Given the description of an element on the screen output the (x, y) to click on. 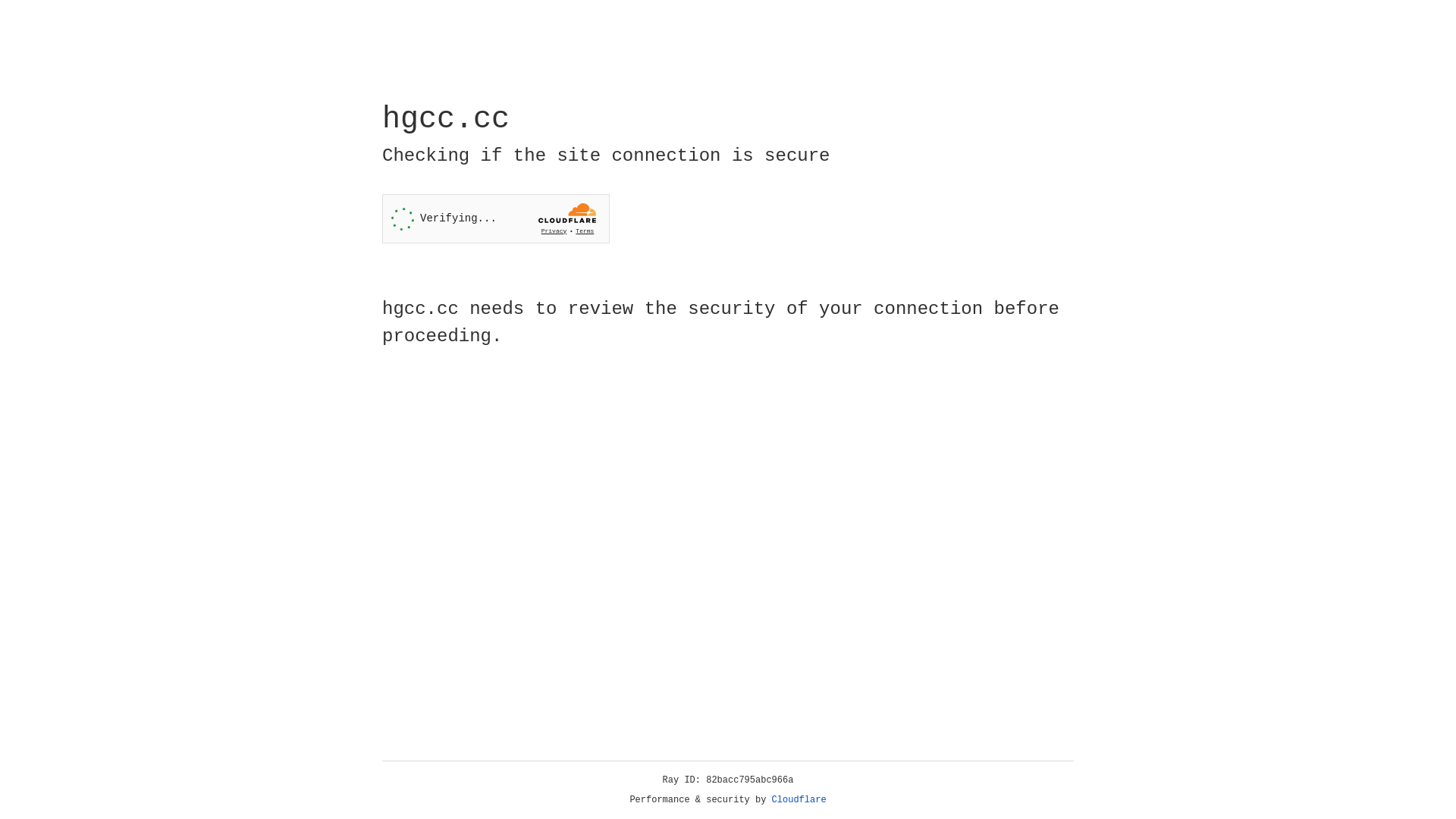
Cloudflare Element type: text (798, 799)
Widget containing a Cloudflare security challenge Element type: hover (495, 218)
